Given the description of an element on the screen output the (x, y) to click on. 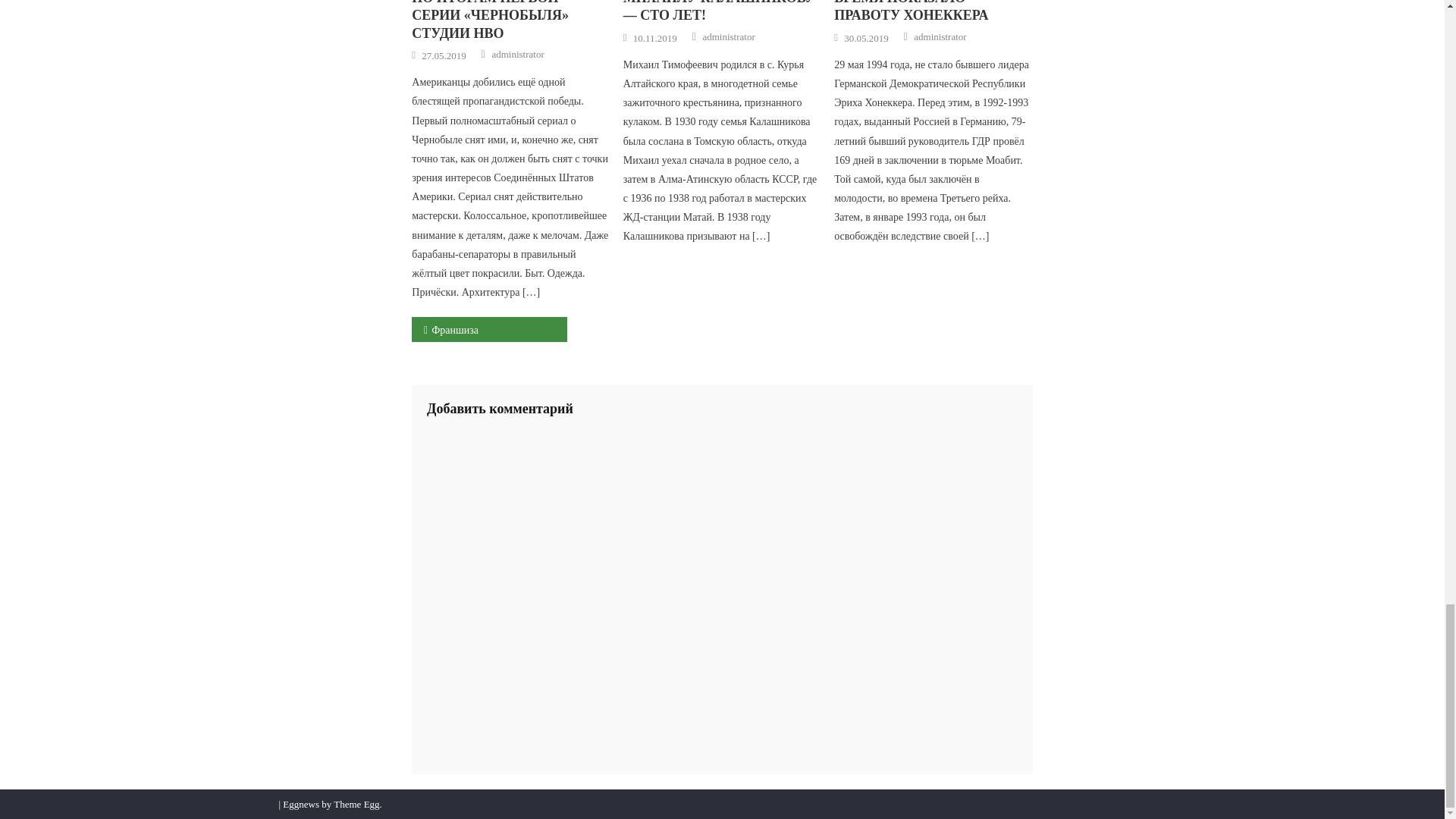
Theme Egg (355, 803)
27.05.2019 (443, 56)
administrator (940, 37)
30.05.2019 (866, 38)
10.11.2019 (655, 38)
administrator (727, 37)
administrator (517, 54)
